Given the description of an element on the screen output the (x, y) to click on. 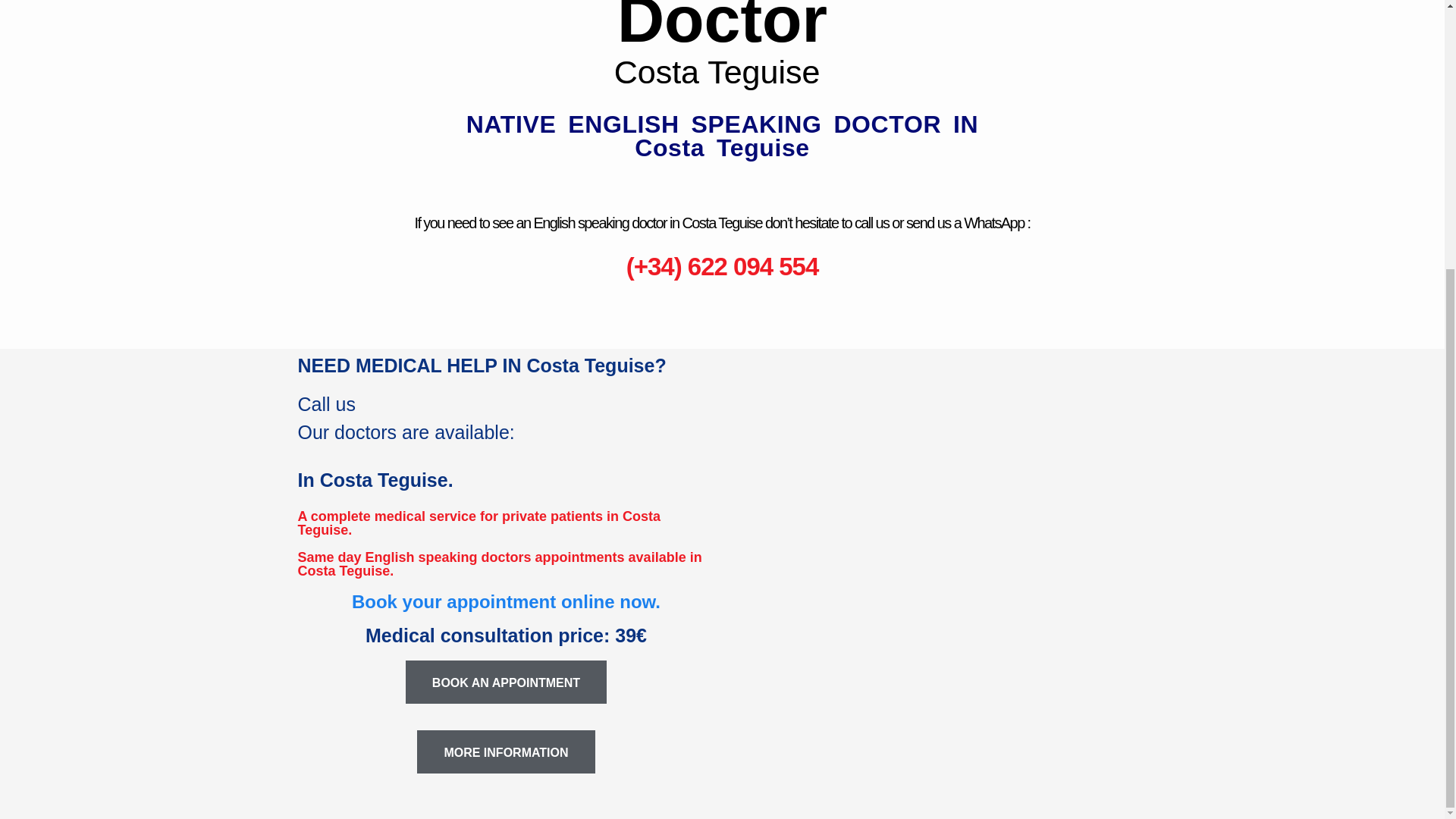
MORE INFORMATION (505, 751)
BOOK AN APPOINTMENT (506, 681)
